Given the description of an element on the screen output the (x, y) to click on. 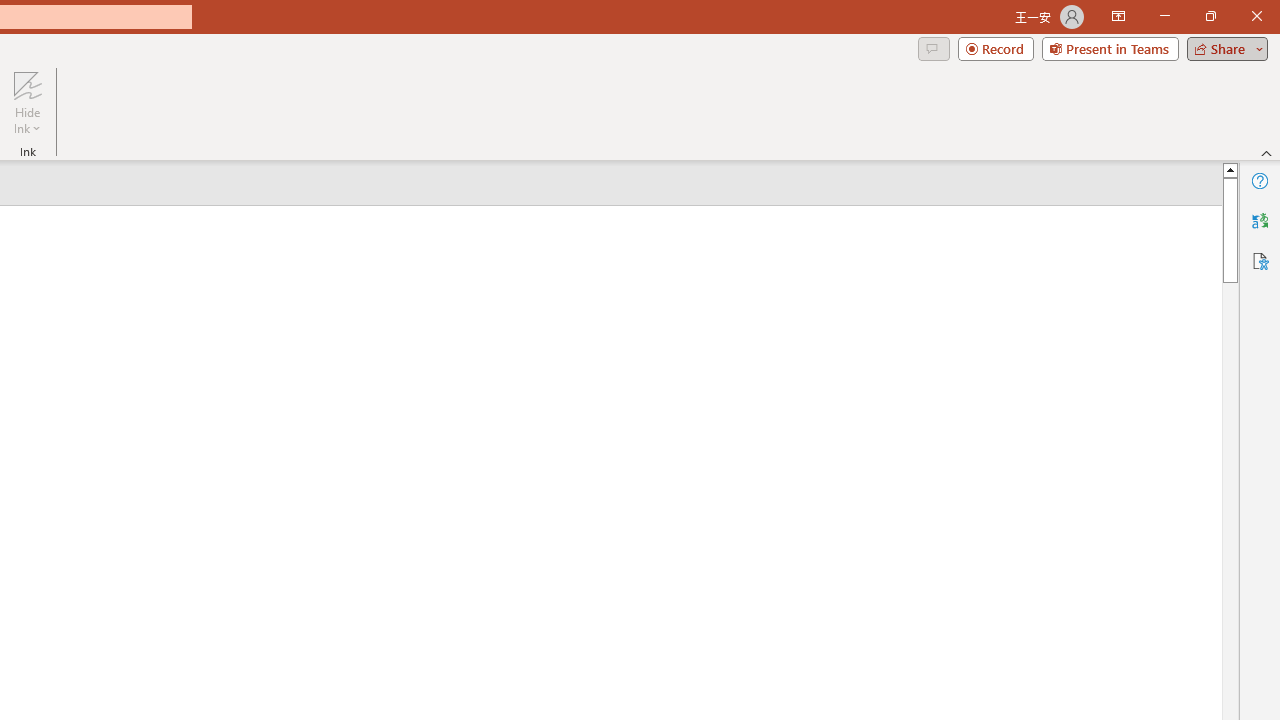
Hide Ink (27, 84)
Accessibility (1260, 260)
Hide Ink (27, 102)
Translator (1260, 220)
